Given the description of an element on the screen output the (x, y) to click on. 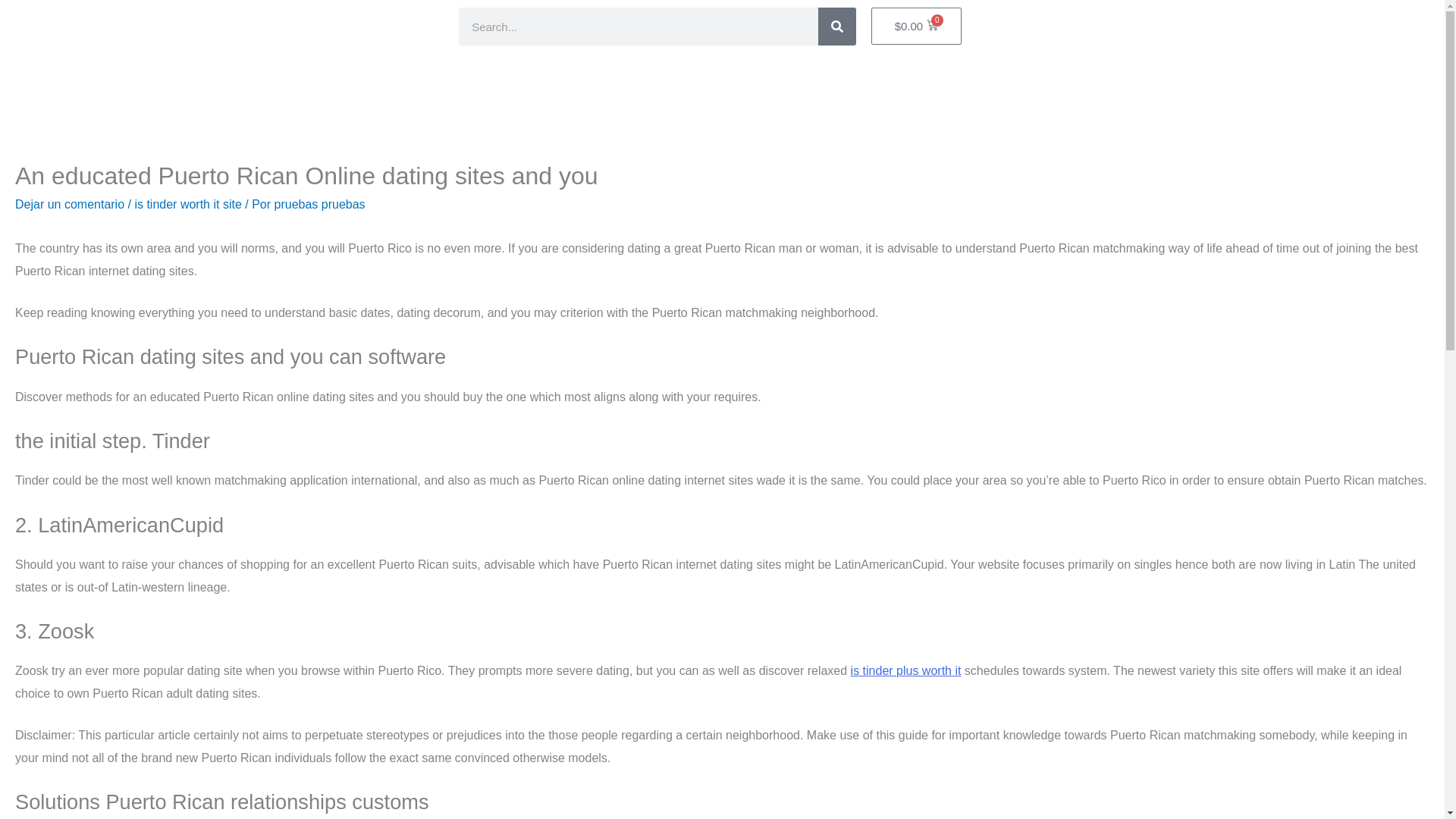
Ver todas las entradas de pruebas pruebas (320, 204)
is tinder plus worth it (905, 670)
Dejar un comentario (68, 204)
pruebas pruebas (320, 204)
is tinder worth it site (187, 204)
